Given the description of an element on the screen output the (x, y) to click on. 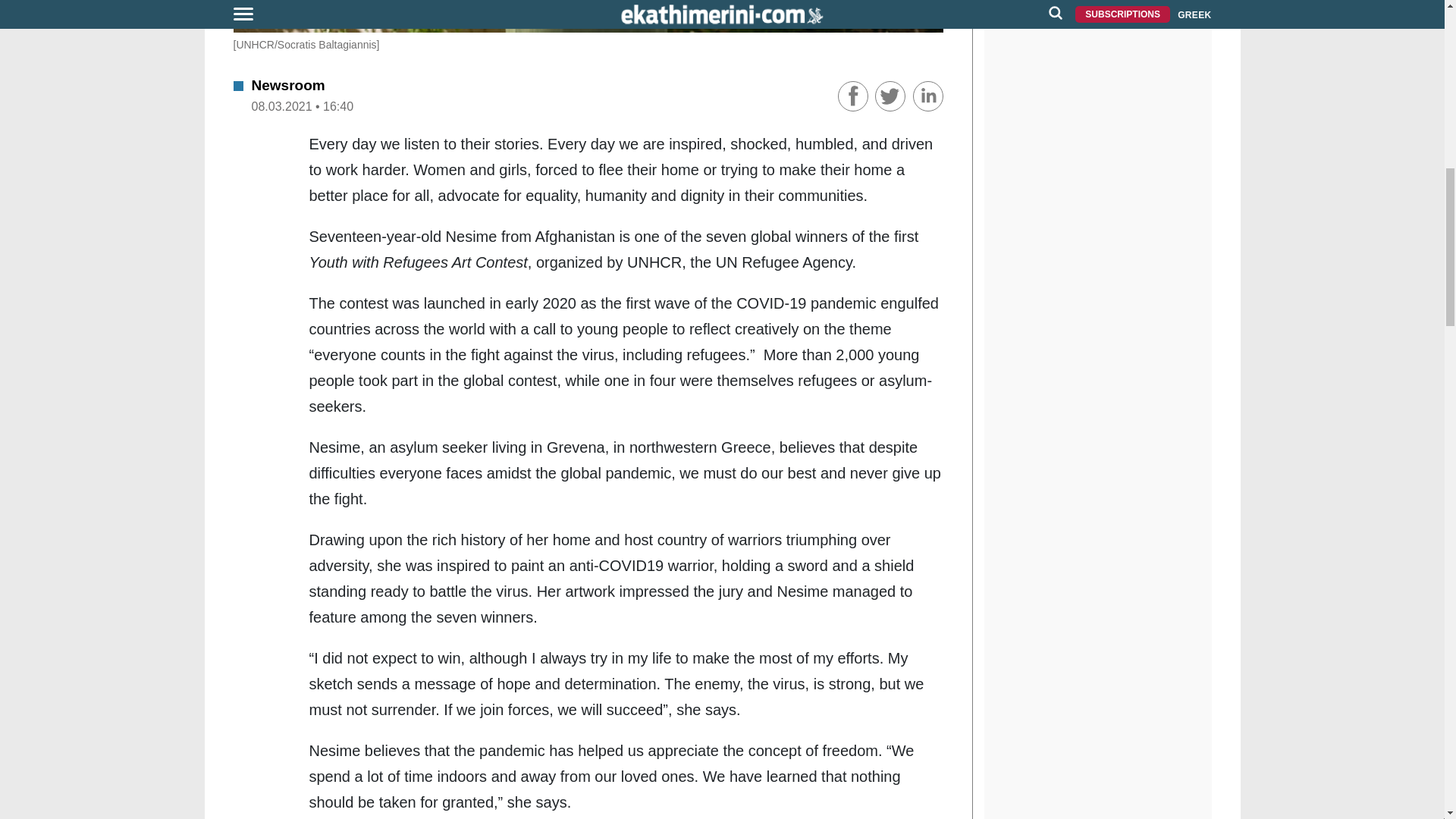
View all posts by Newsroom (287, 84)
